Given the description of an element on the screen output the (x, y) to click on. 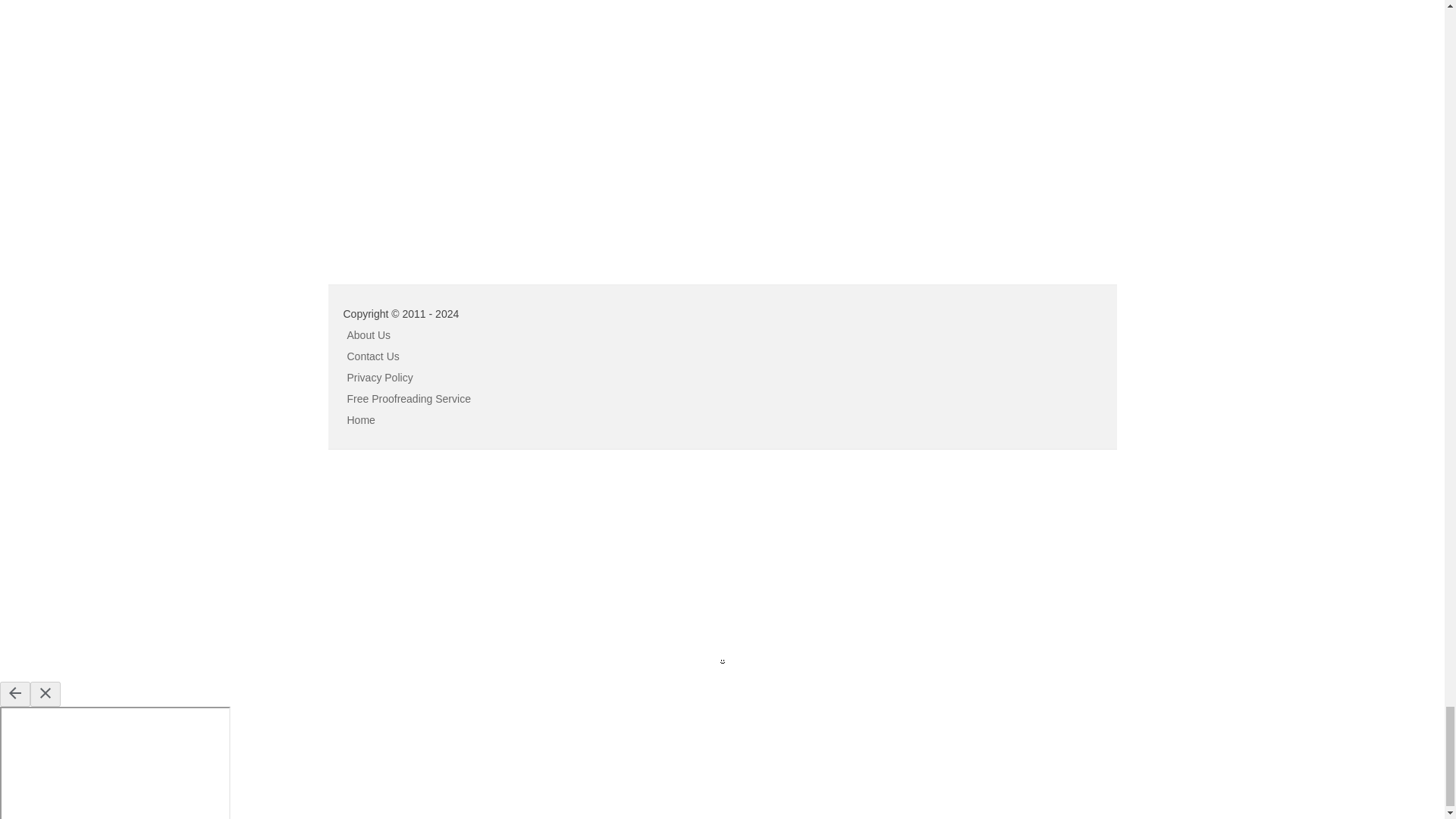
Privacy Policy (380, 377)
About Us (369, 335)
Home (361, 419)
Contact Us (372, 356)
Free Proofreading Service (408, 398)
